Given the description of an element on the screen output the (x, y) to click on. 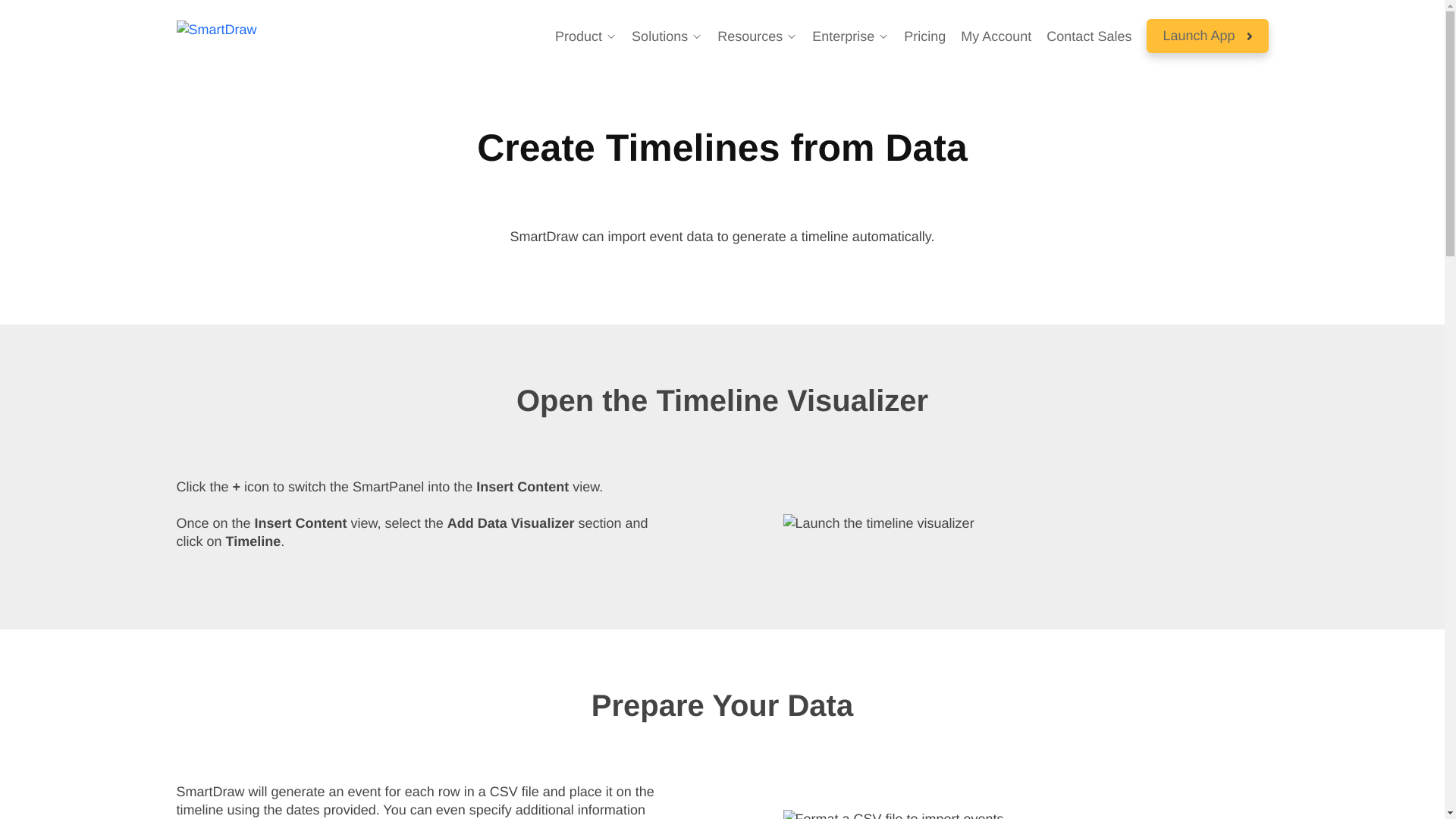
My Account (995, 36)
Pricing (924, 36)
Contact Sales (1088, 36)
Launch App (1207, 35)
